Given the description of an element on the screen output the (x, y) to click on. 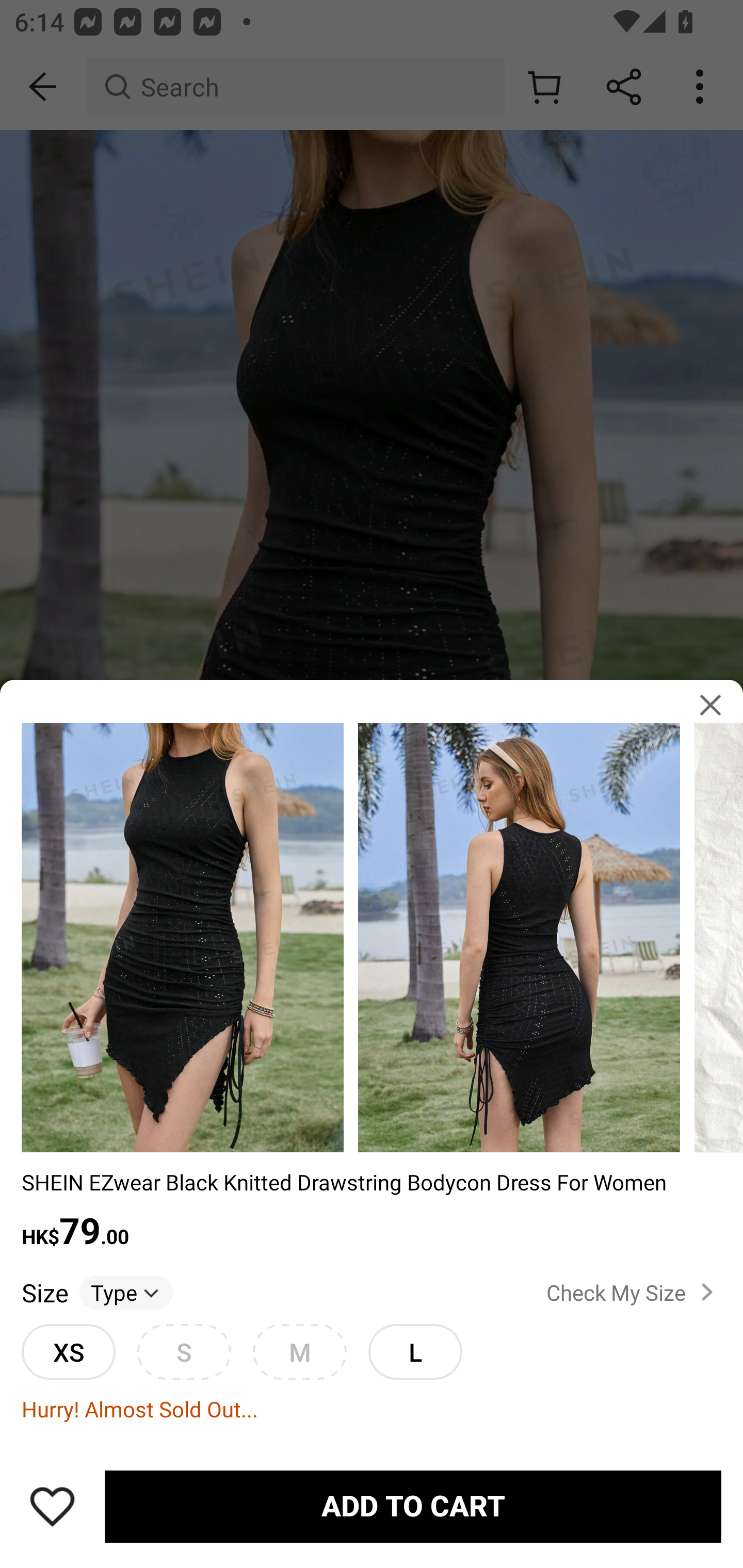
Size (44, 1291)
Type (126, 1291)
Check My Size (633, 1292)
XS unselected option (68, 1351)
S (184, 1351)
M (299, 1351)
L unselected option (415, 1351)
Hurry! Almost Sold Out... (371, 1408)
ADD TO CART (412, 1506)
Save (52, 1505)
